Given the description of an element on the screen output the (x, y) to click on. 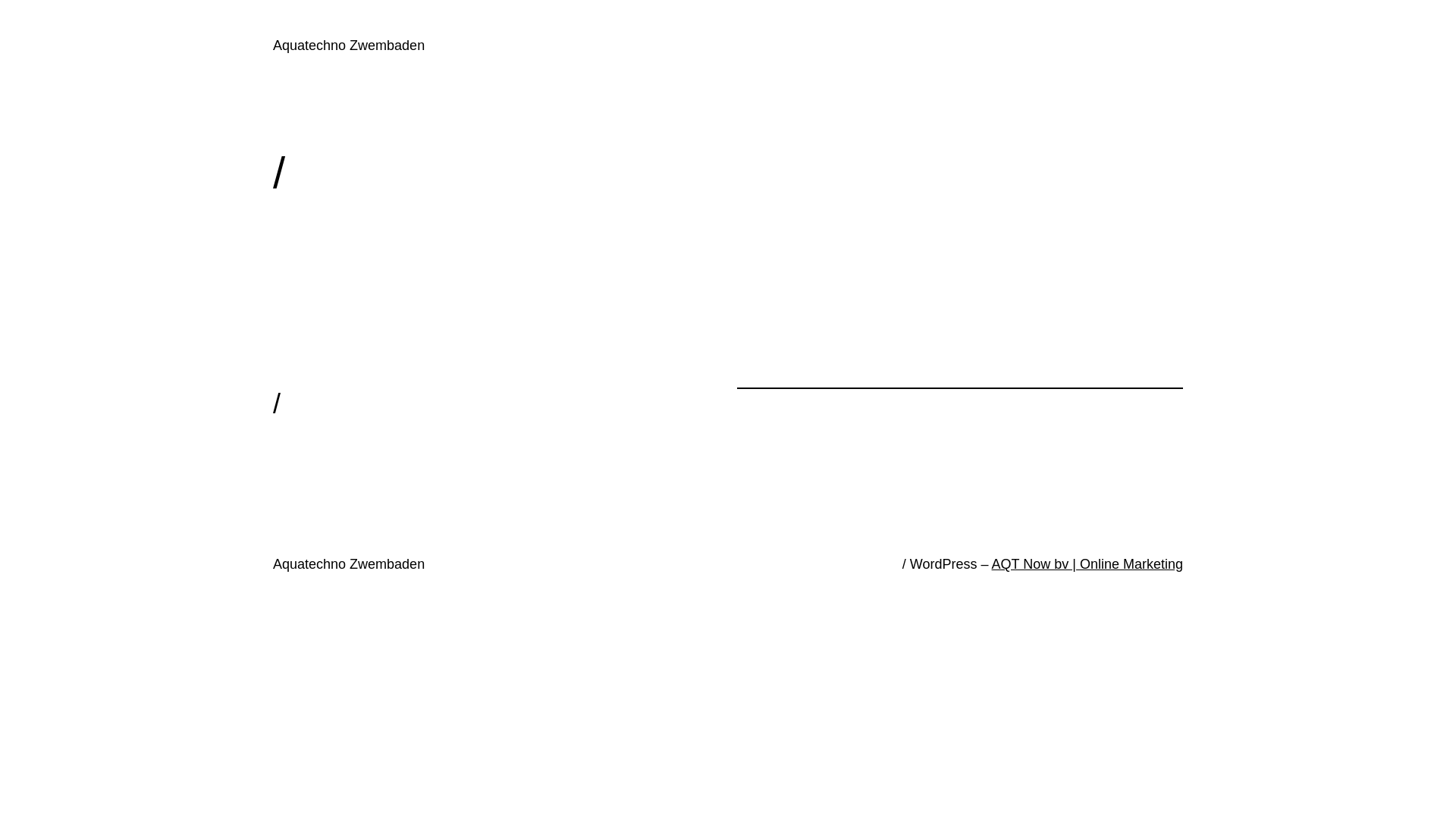
Aquatechno Zwembaden Element type: text (348, 45)
AQT Now bv | Online Marketing Element type: text (1087, 563)
Aquatechno Zwembaden Element type: text (348, 563)
